Given the description of an element on the screen output the (x, y) to click on. 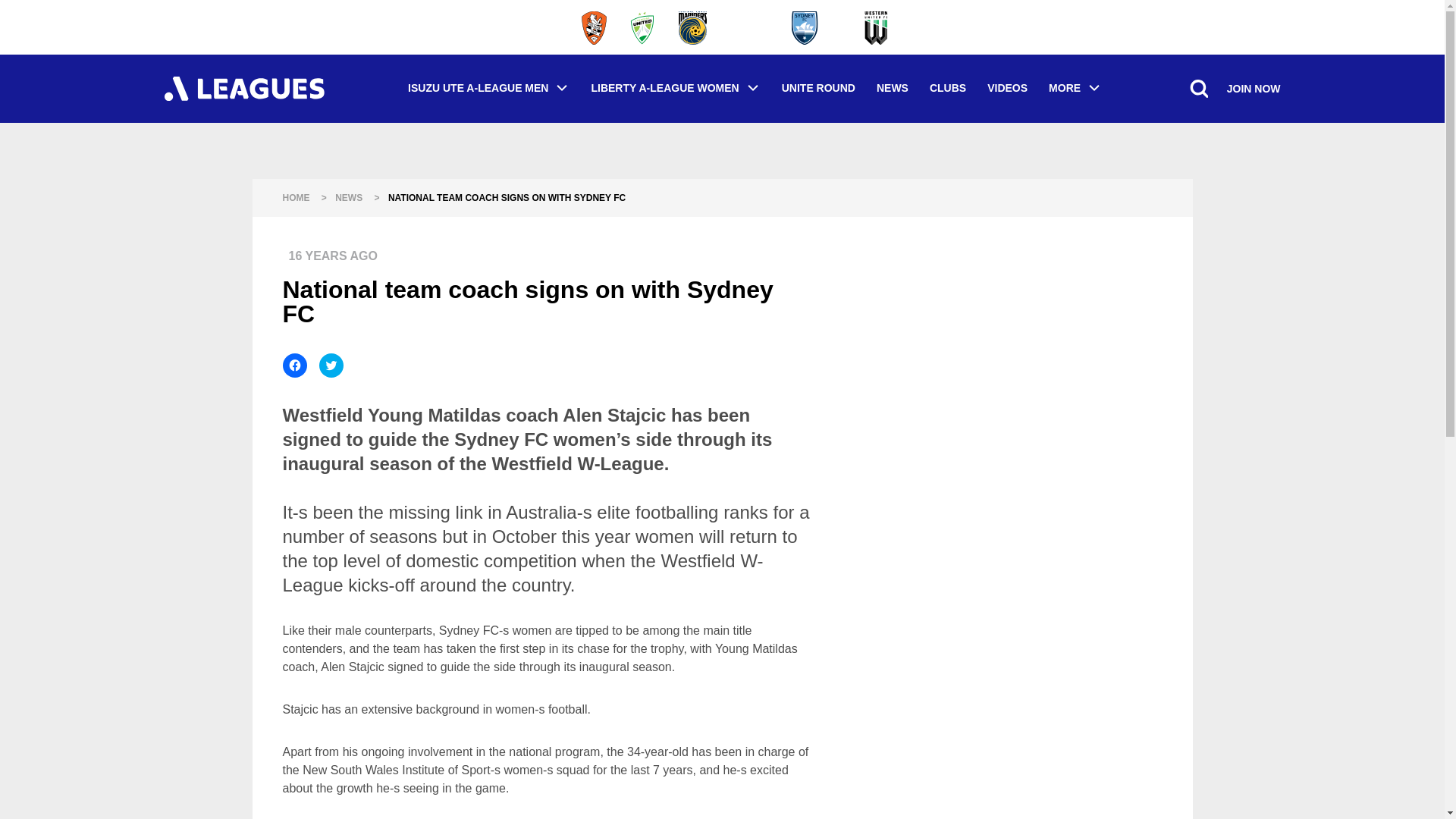
ISUZU UTE A-LEAGUE MEN (488, 87)
LIBERTY A-LEAGUE WOMEN (674, 87)
Click to share on Facebook (293, 364)
Click to share on Twitter (330, 364)
